Given the description of an element on the screen output the (x, y) to click on. 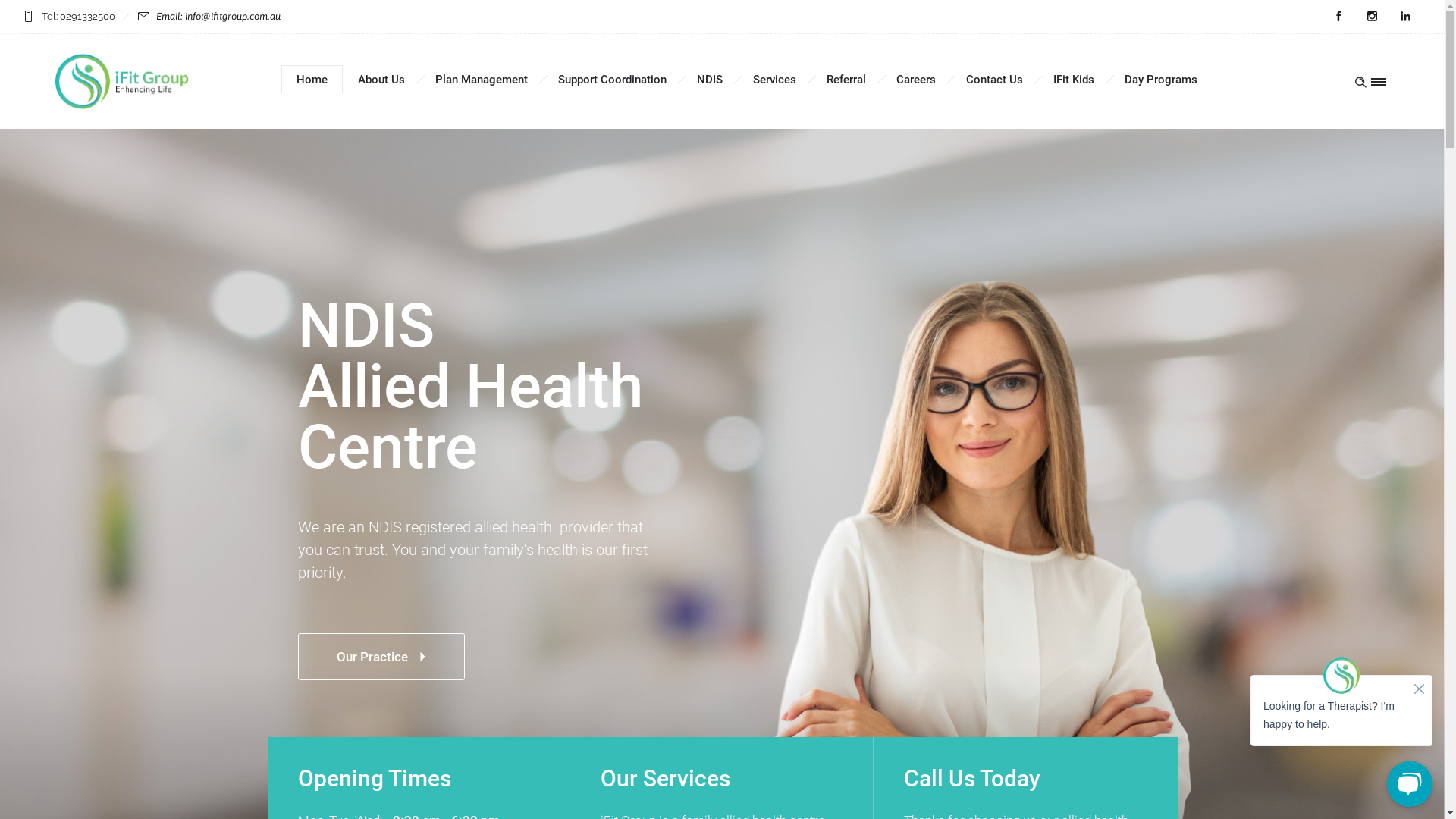
Tel: 0291332500 Element type: text (77, 15)
NDIS Element type: text (709, 79)
Our Practice Element type: text (380, 656)
Email: info@ifitgroup.com.au Element type: text (218, 15)
IFit Kids Element type: text (1073, 79)
Referral Element type: text (846, 79)
Home Element type: text (311, 79)
About Us Element type: text (381, 79)
Day Programs Element type: text (1160, 79)
Contact Us Element type: text (994, 79)
Services Element type: text (774, 79)
Support Coordination Element type: text (611, 79)
Unknown Element type: hover (121, 81)
Plan Management Element type: text (481, 79)
Careers Element type: text (915, 79)
